Given the description of an element on the screen output the (x, y) to click on. 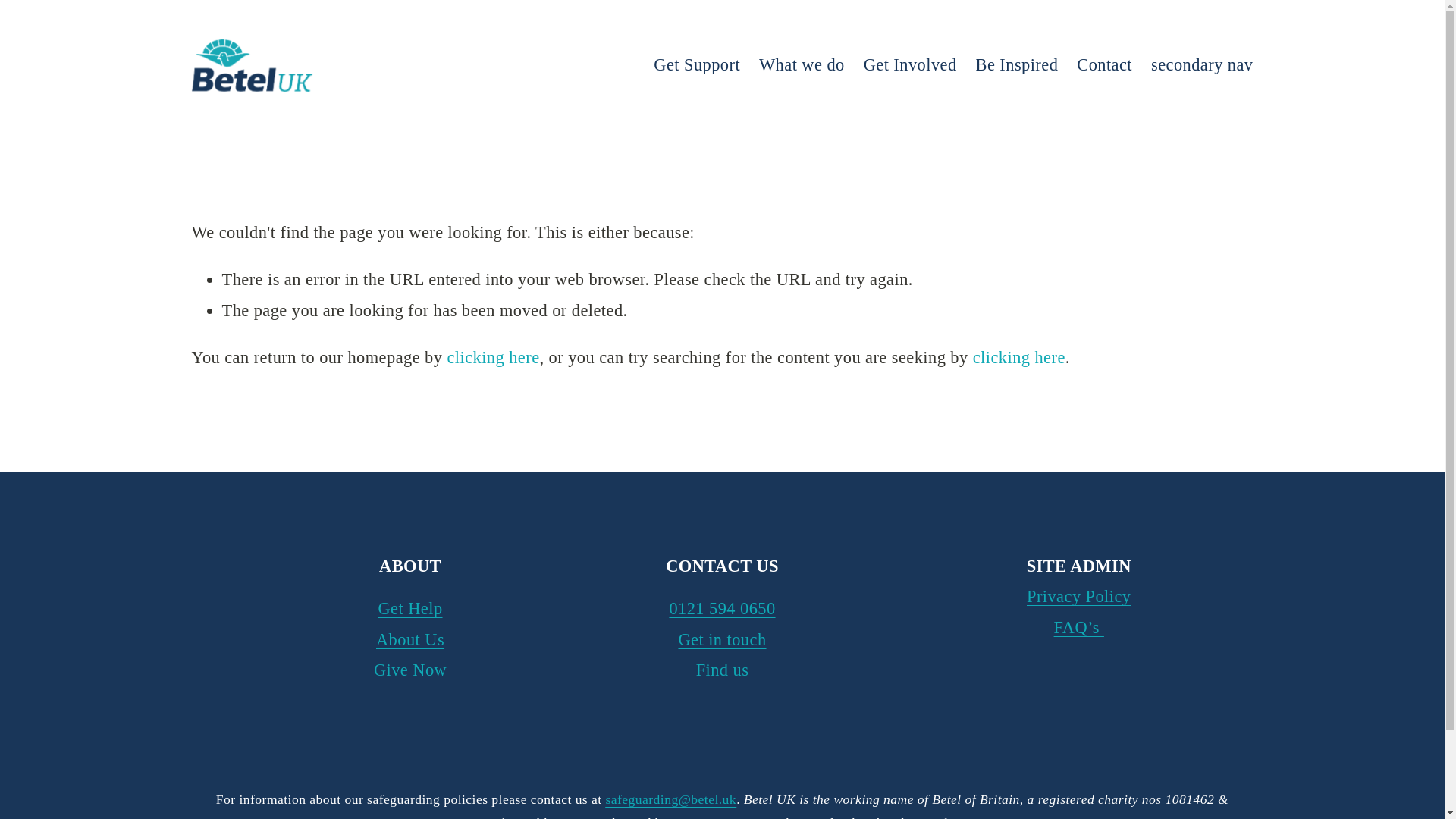
What we do (801, 65)
secondary nav (1202, 65)
Be Inspired (1016, 65)
Contact (1104, 65)
Give now (25, 6)
Get Involved (909, 65)
Get Support (696, 65)
